Given the description of an element on the screen output the (x, y) to click on. 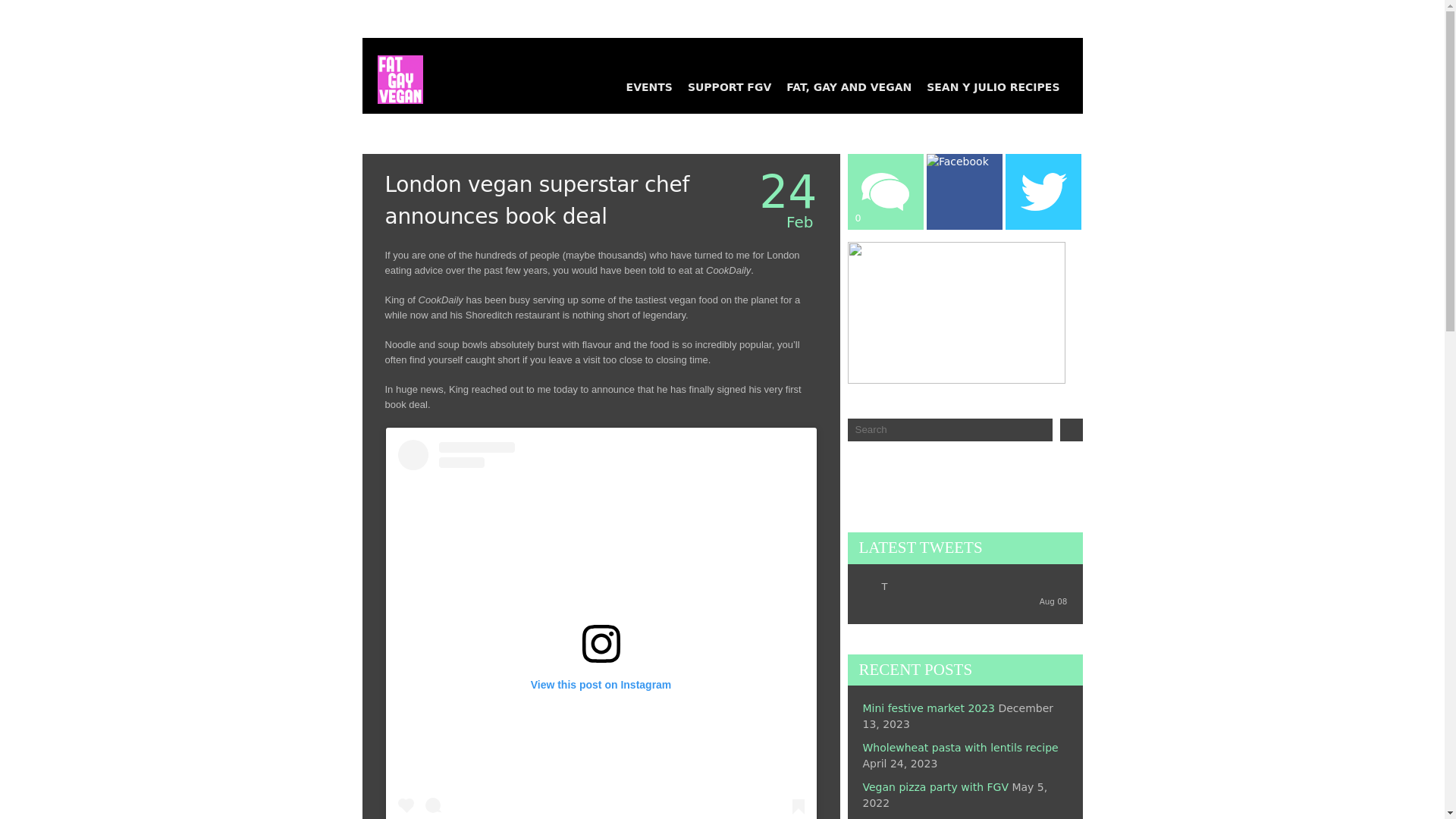
Reply (884, 119)
SEAN Y JULIO RECIPES (992, 86)
EVENTS (648, 86)
07:03 AM Aug 08 GMT 0 (1053, 601)
0 (884, 92)
Tweet (1035, 85)
FAT, GAY AND VEGAN (848, 86)
Fat Gay Vegan (392, 70)
SUPPORT FGV (728, 86)
